Given the description of an element on the screen output the (x, y) to click on. 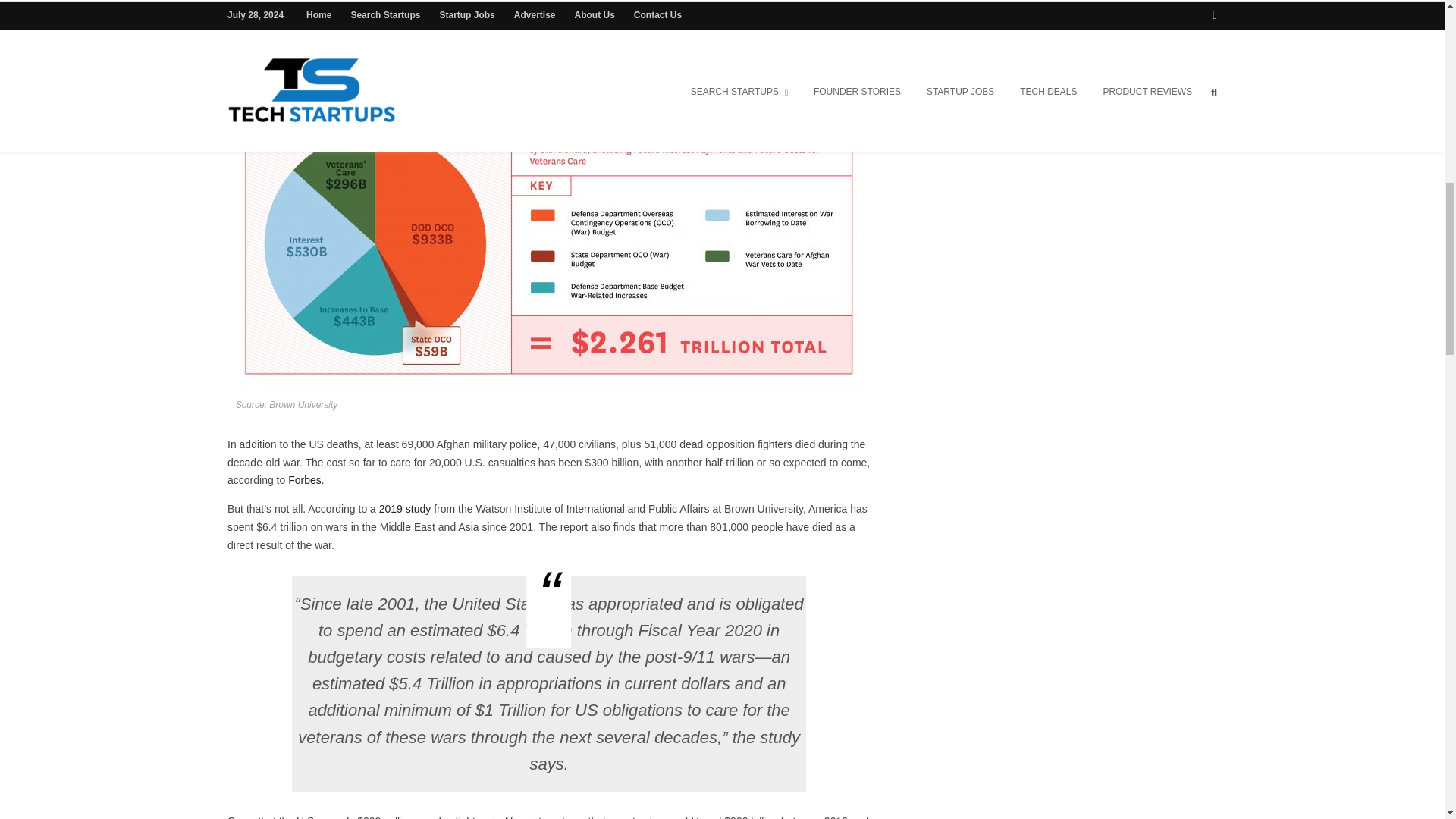
2019 study (404, 508)
Forbes (304, 480)
